Given the description of an element on the screen output the (x, y) to click on. 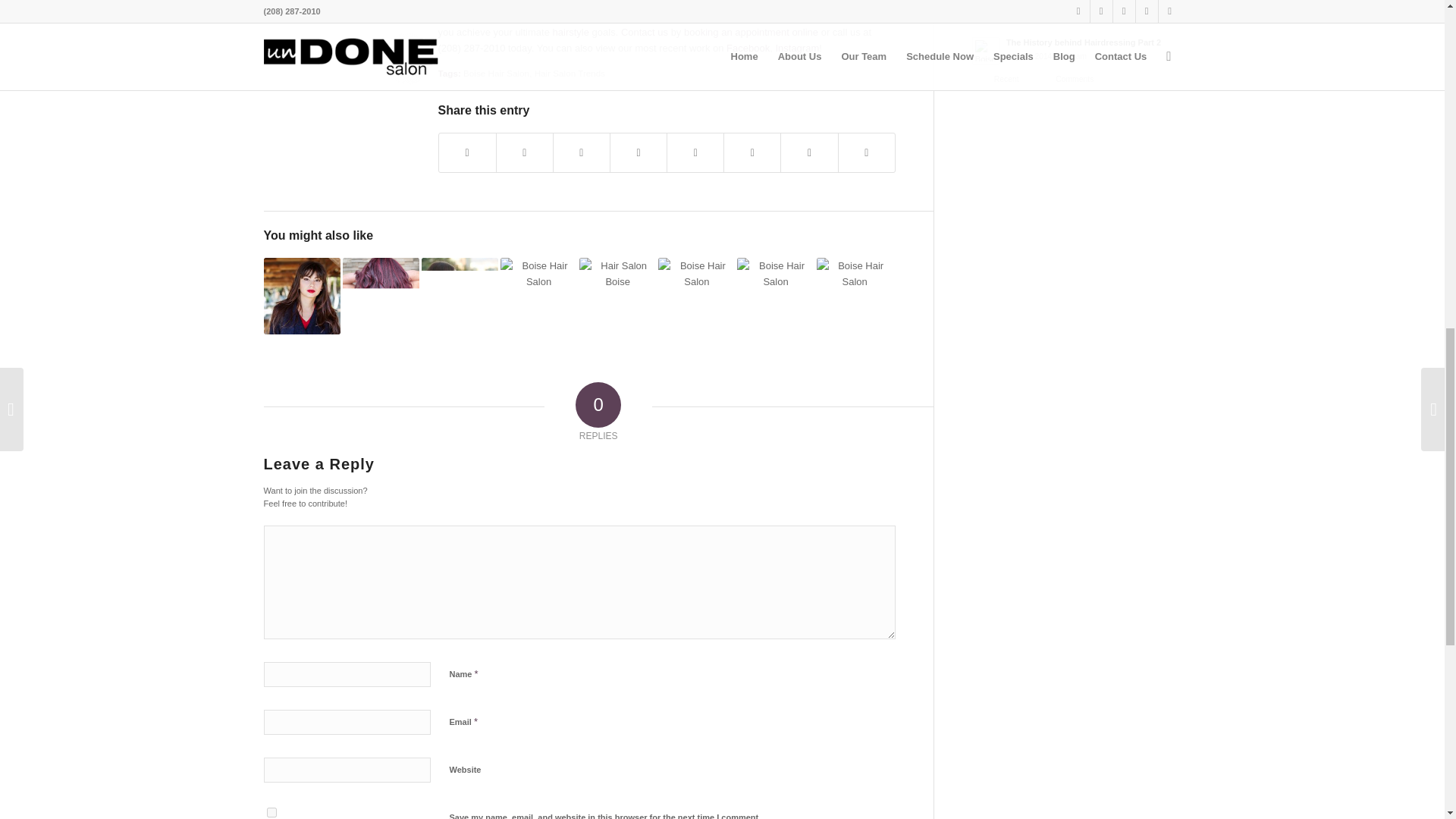
yes (271, 812)
Contact us (644, 31)
hairstyle (571, 31)
booking an appointment online (752, 31)
Facebook (746, 48)
